Given the description of an element on the screen output the (x, y) to click on. 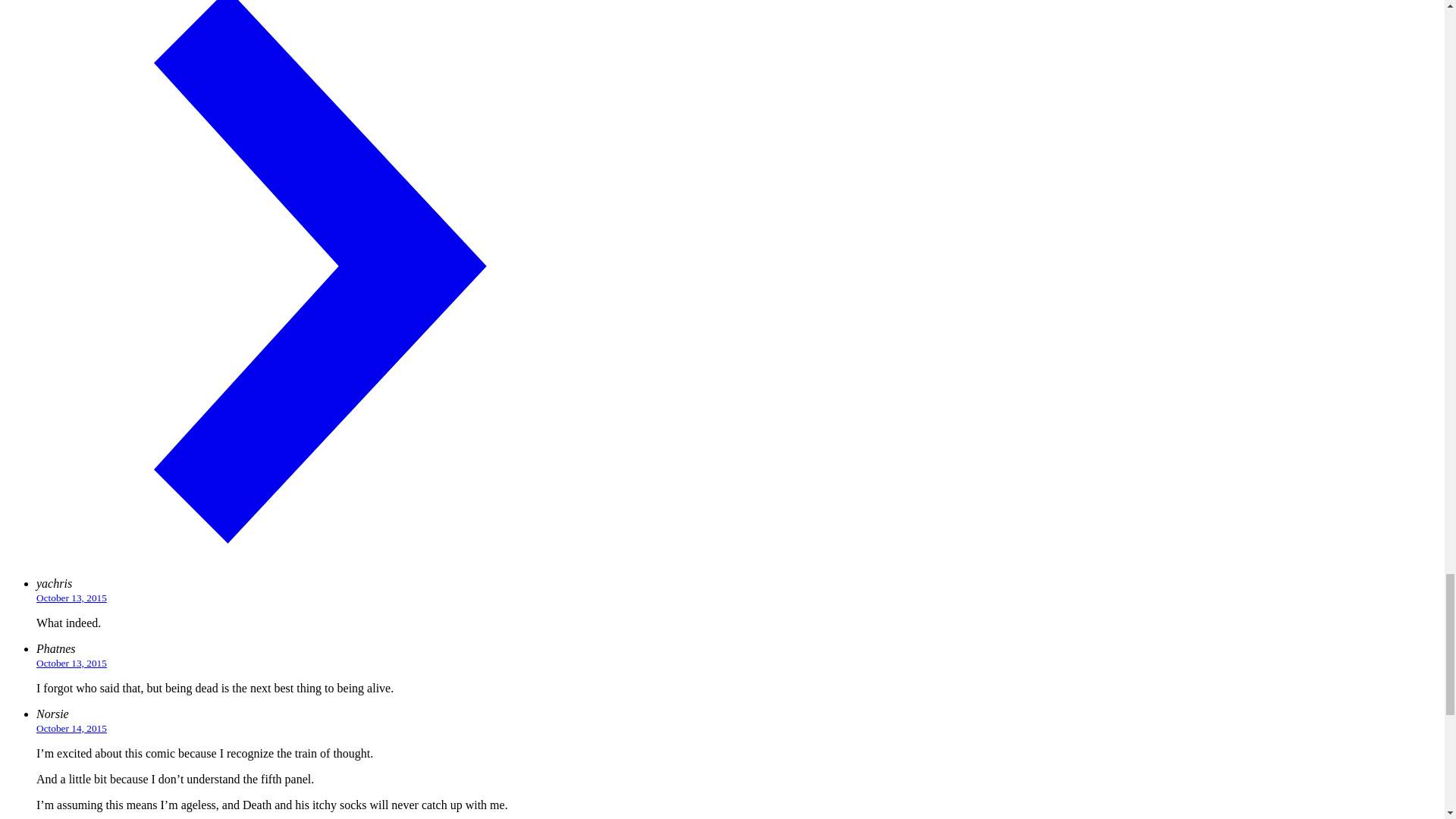
October 13, 2015 (71, 663)
October 14, 2015 (71, 727)
October 13, 2015 (71, 597)
